Given the description of an element on the screen output the (x, y) to click on. 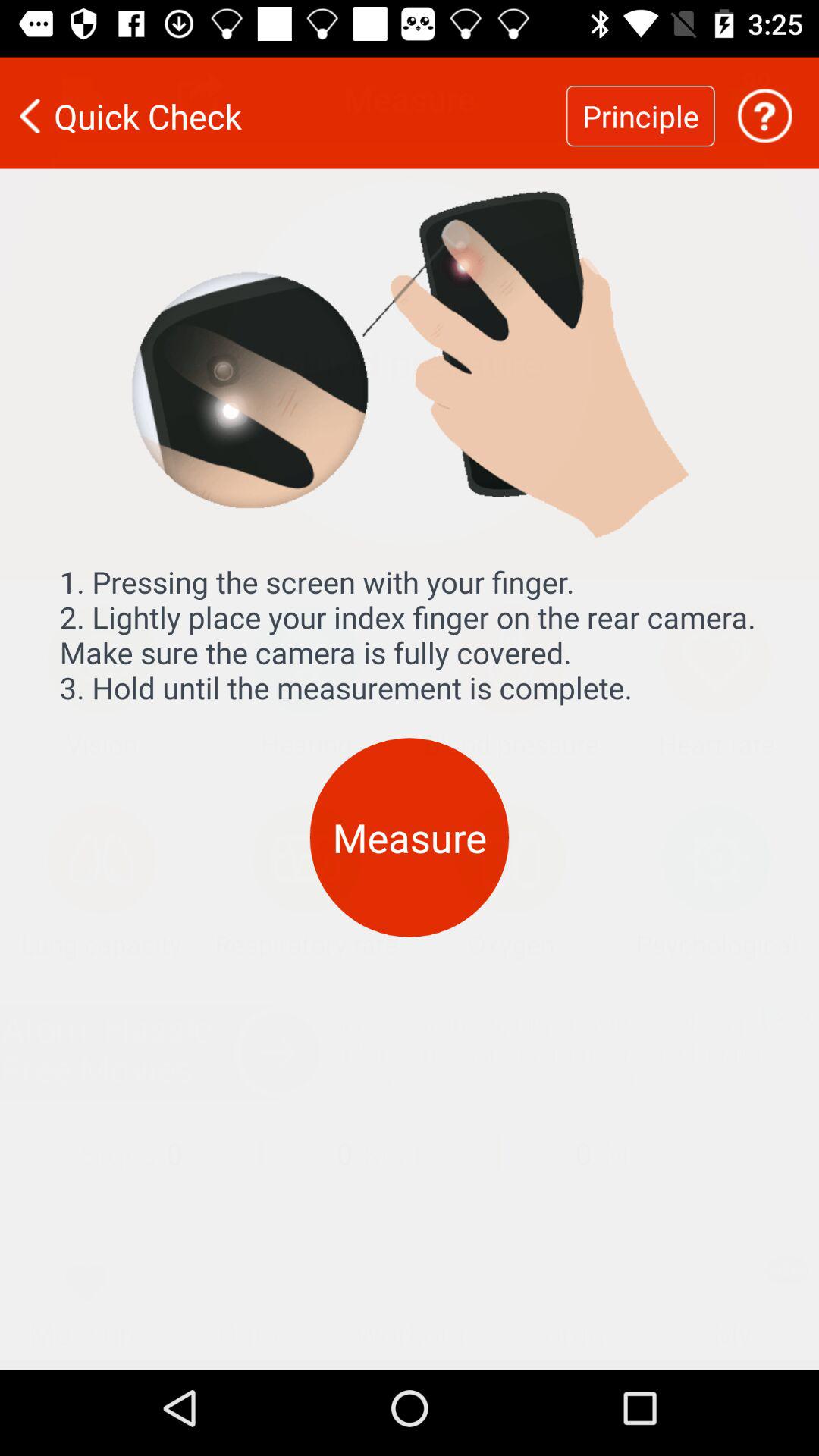
jump to principle (640, 106)
